Given the description of an element on the screen output the (x, y) to click on. 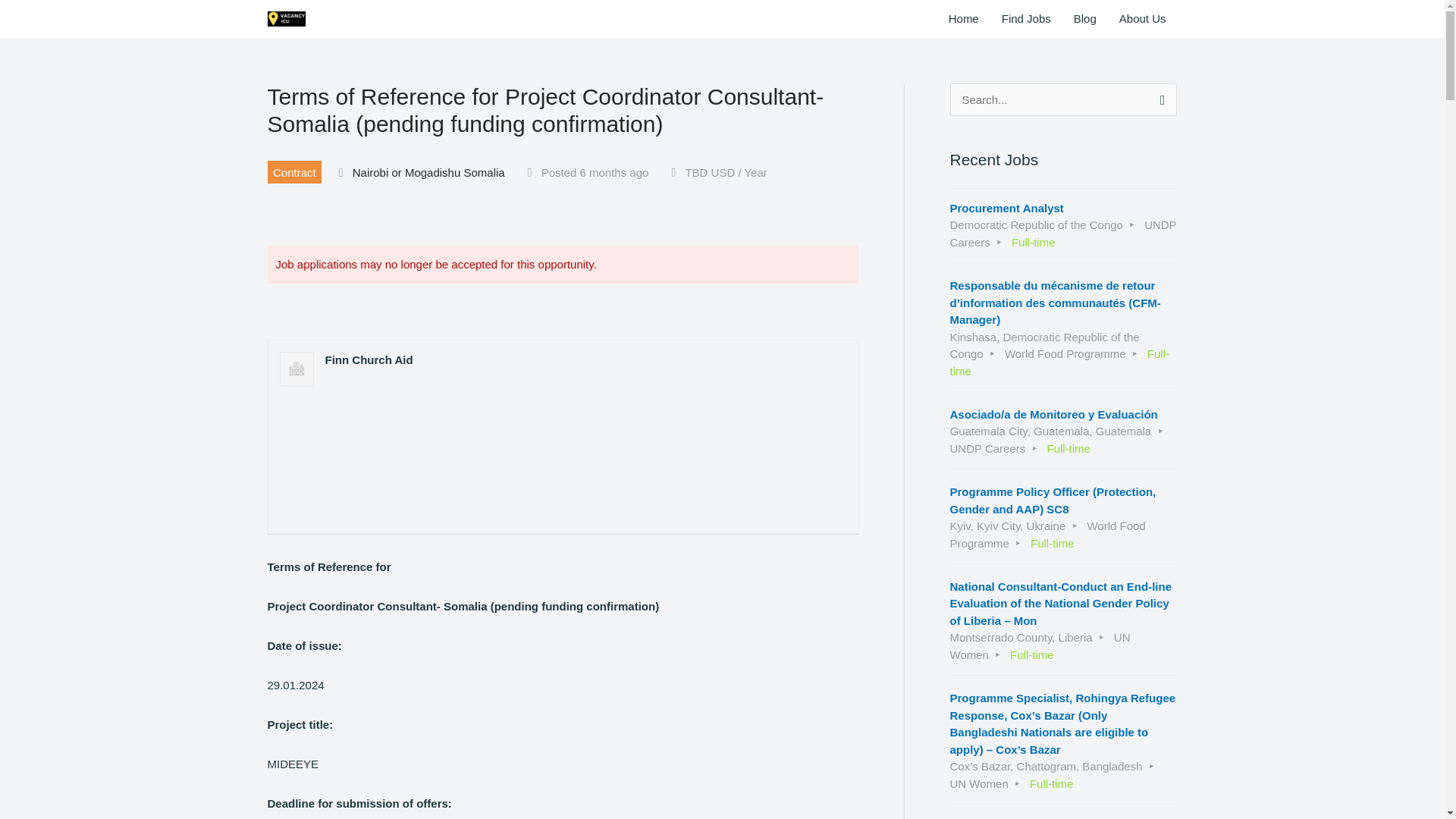
Home (963, 18)
Advertisement (562, 439)
Nairobi or Mogadishu Somalia (428, 172)
Search (1158, 98)
About Us (1142, 18)
Search (1158, 98)
Find Jobs (1026, 18)
Blog (1085, 18)
Search (1158, 98)
